Given the description of an element on the screen output the (x, y) to click on. 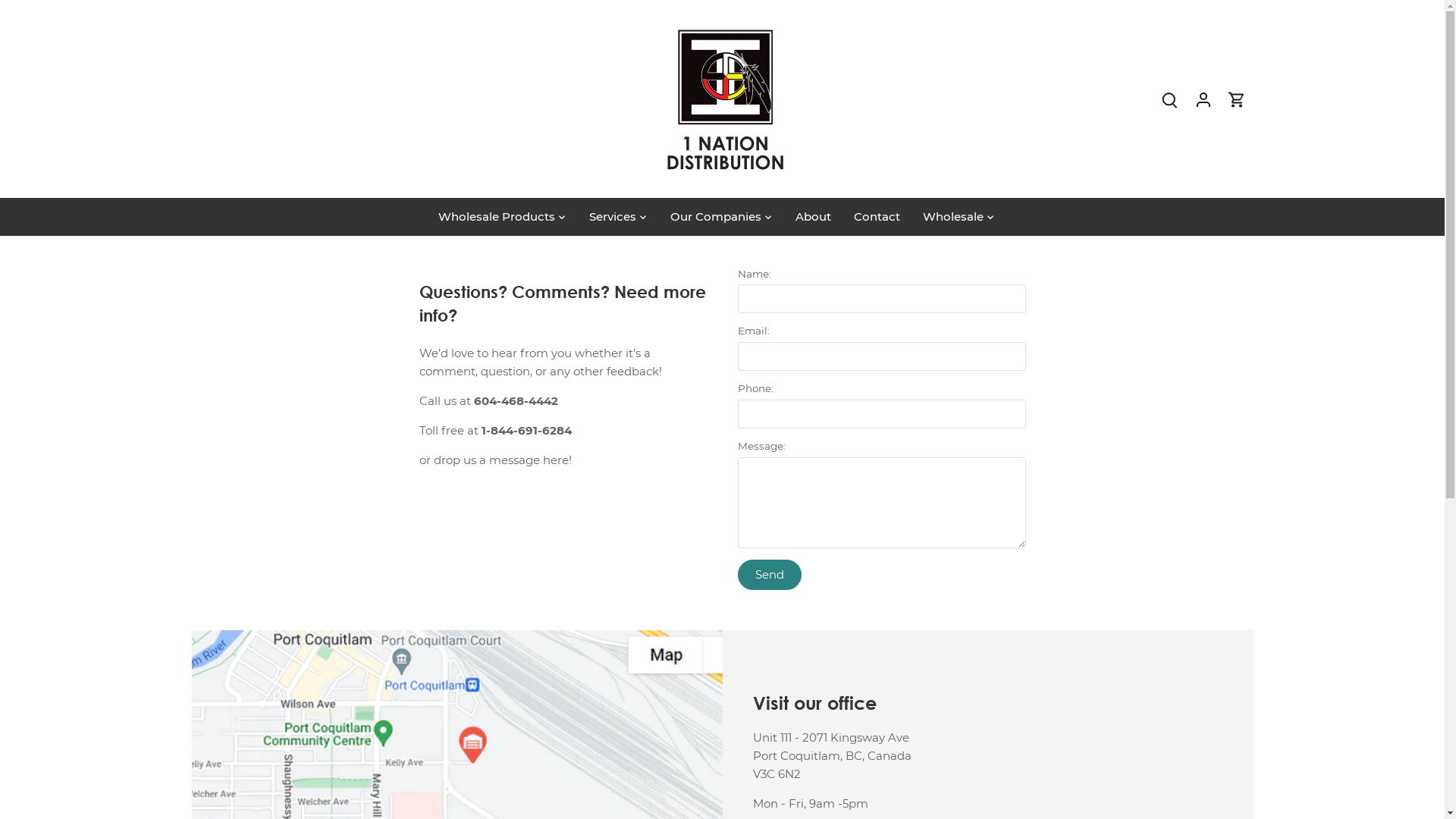
Services Element type: text (612, 216)
Contact Element type: text (876, 216)
Go to cart Element type: hover (1236, 98)
Wholesale Products Element type: text (502, 216)
About Element type: text (813, 216)
Wholesale Element type: text (952, 216)
Send Element type: text (768, 574)
Our Companies Element type: text (715, 216)
